Given the description of an element on the screen output the (x, y) to click on. 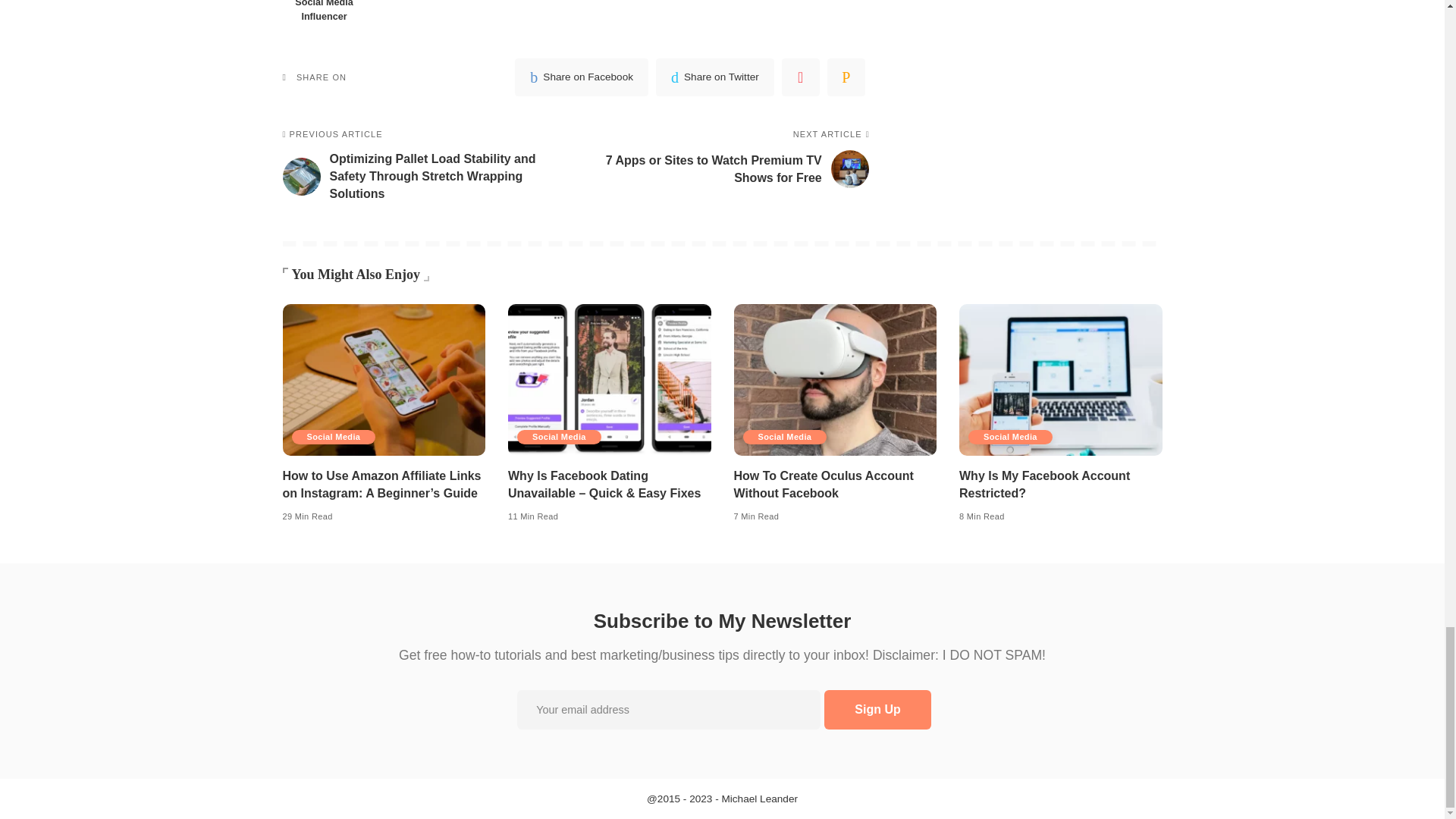
Sign Up (877, 709)
